Given the description of an element on the screen output the (x, y) to click on. 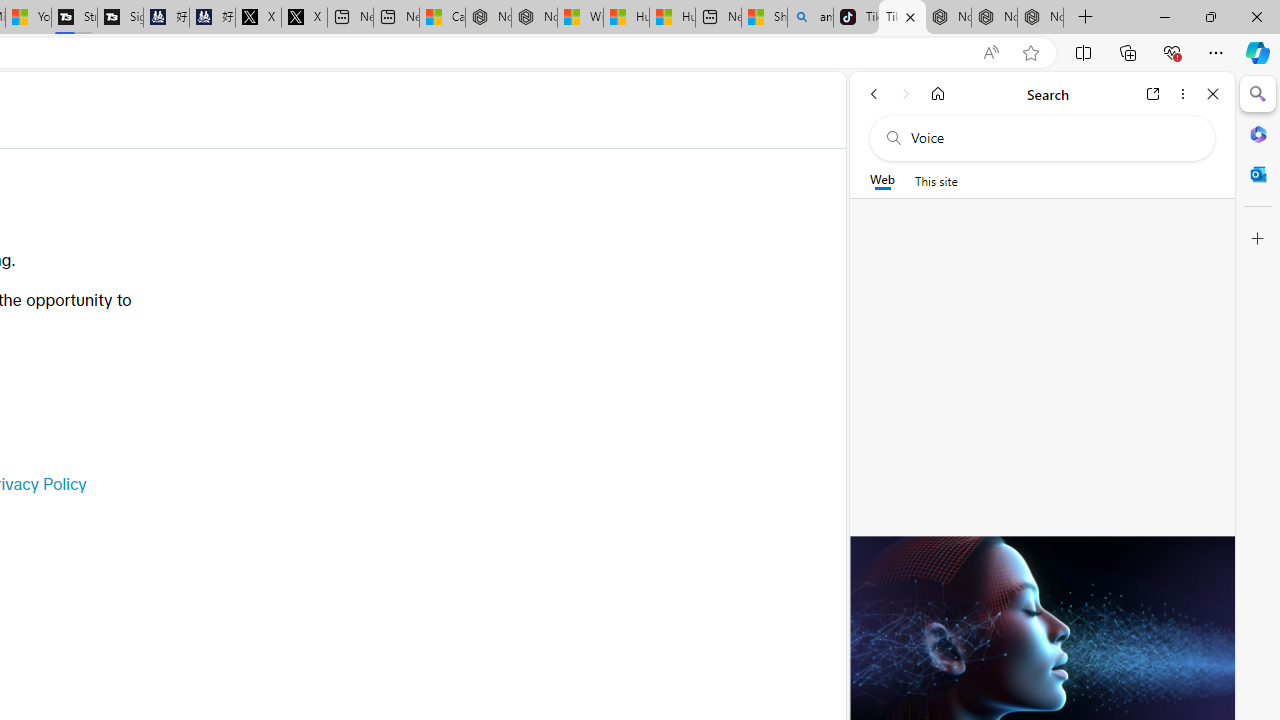
Nordace Siena Pro 15 Backpack (994, 17)
Shanghai, China hourly forecast | Microsoft Weather (764, 17)
Customize (1258, 239)
Outlook (1258, 174)
Search the web (1051, 137)
